Given the description of an element on the screen output the (x, y) to click on. 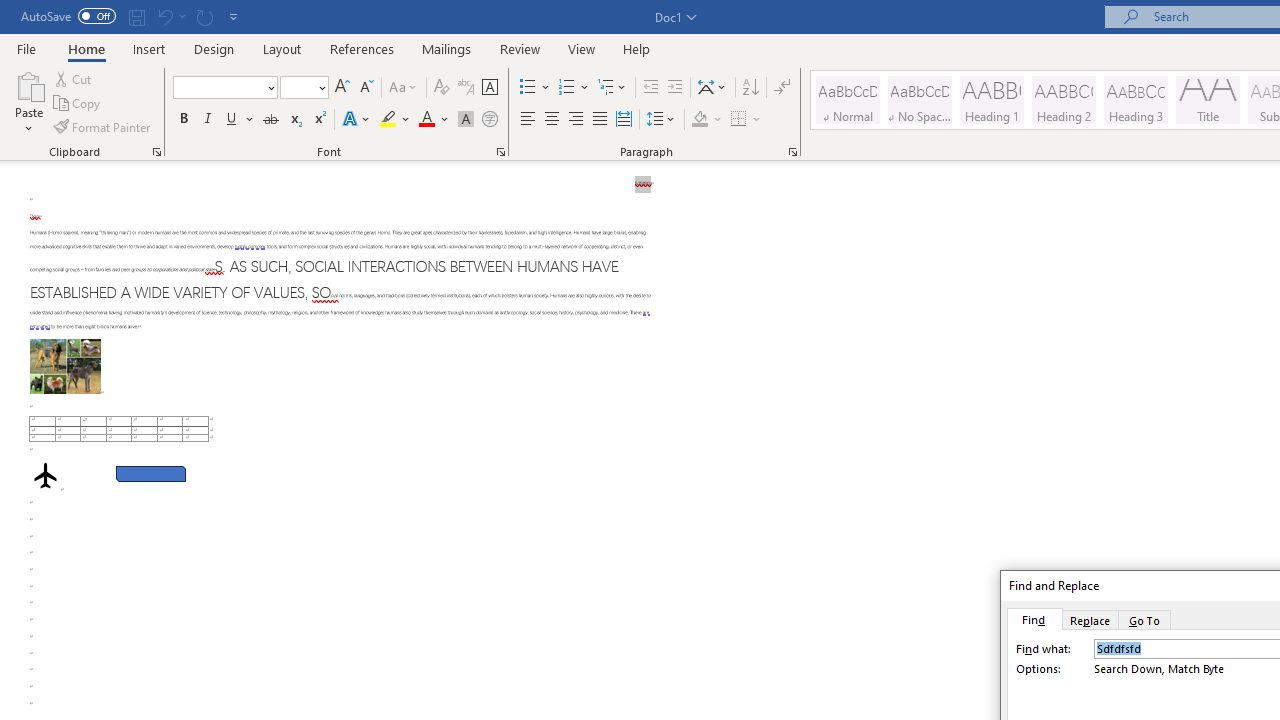
Title (1208, 100)
